Given the description of an element on the screen output the (x, y) to click on. 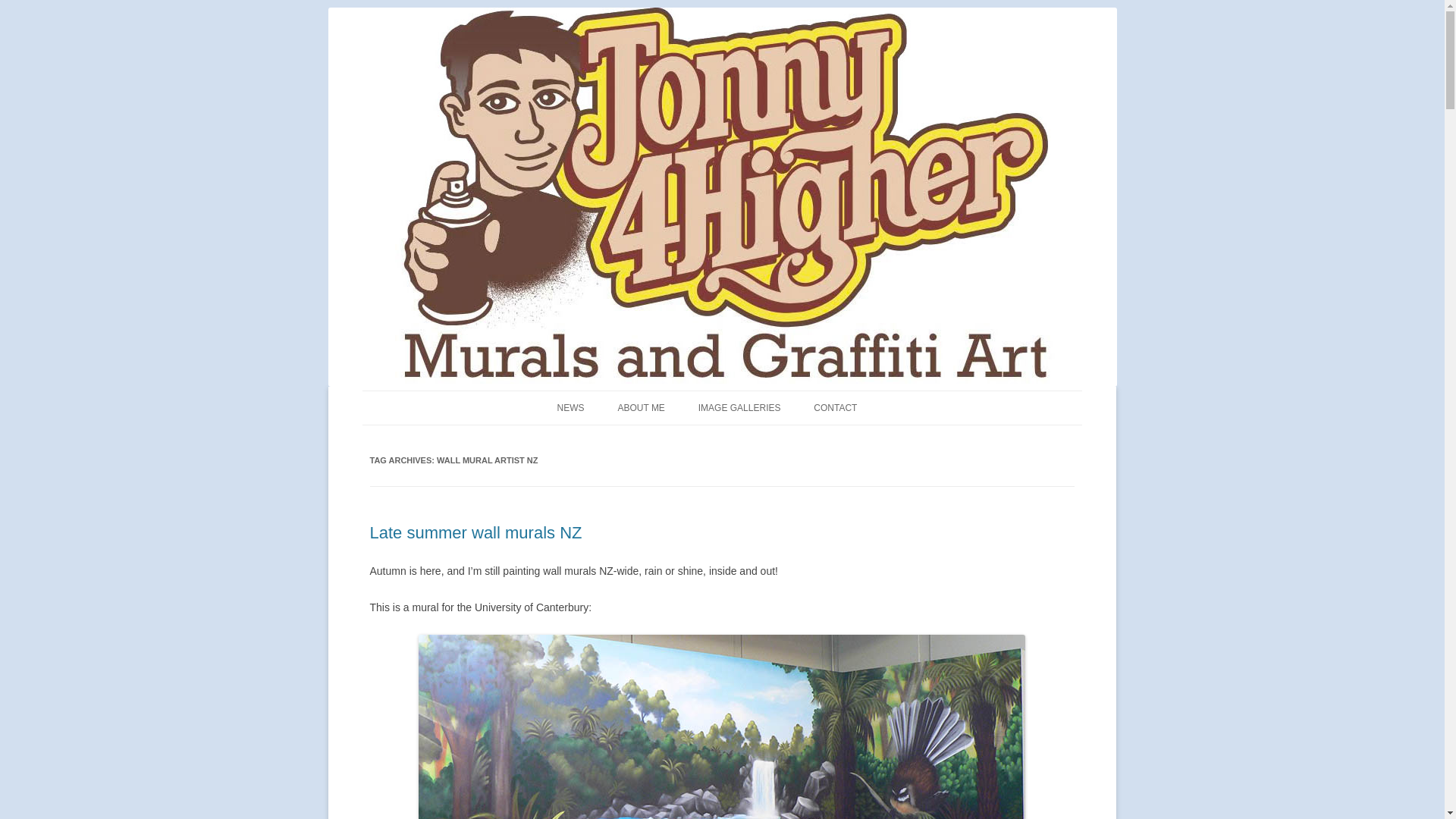
Skip to content (757, 395)
IMAGE GALLERIES (739, 408)
NEWS (571, 408)
CONTACT (835, 408)
Skip to content (757, 395)
Late summer wall murals NZ (475, 532)
ABOUT ME (640, 408)
